Given the description of an element on the screen output the (x, y) to click on. 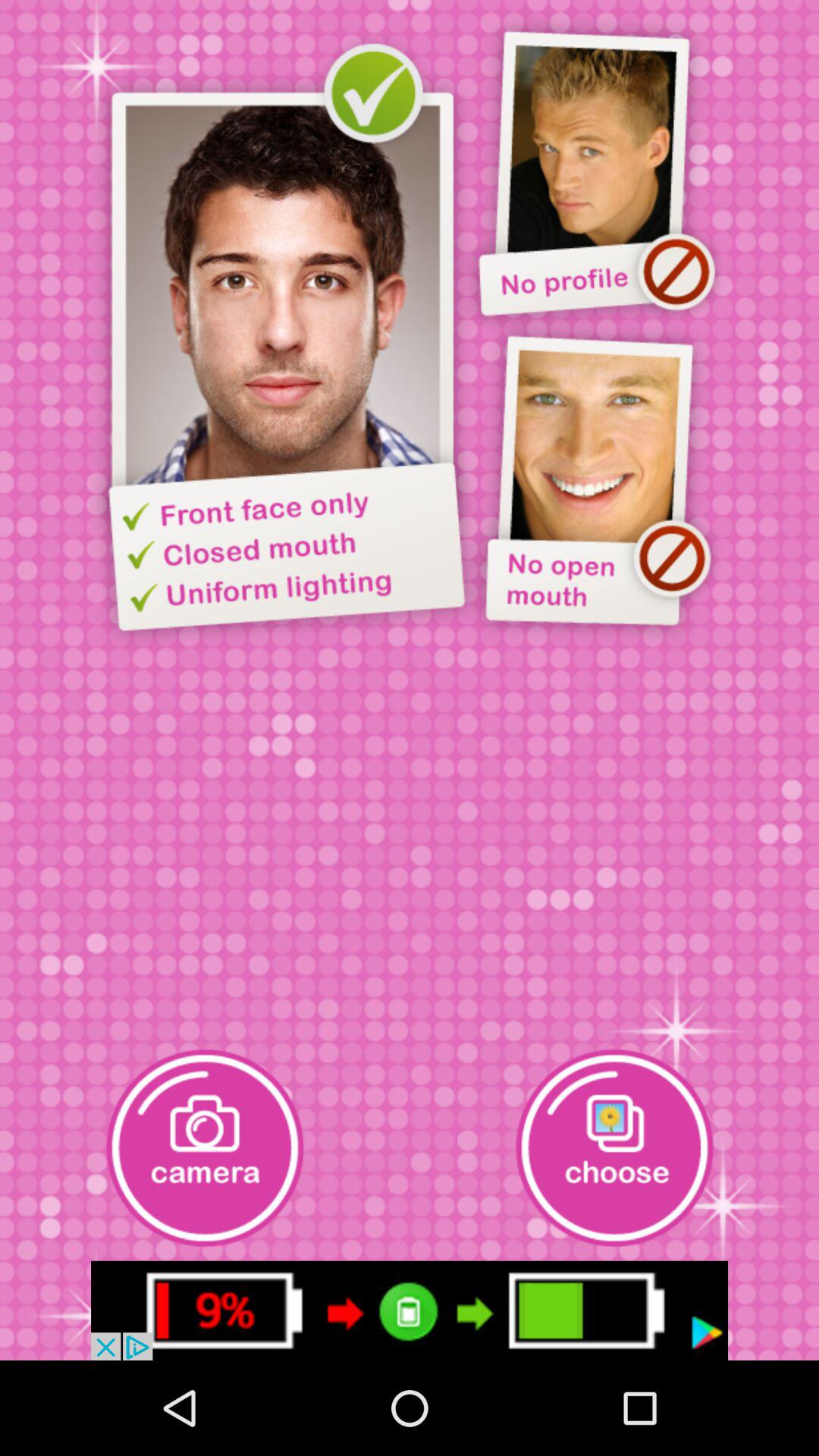
advertisement (409, 1310)
